Given the description of an element on the screen output the (x, y) to click on. 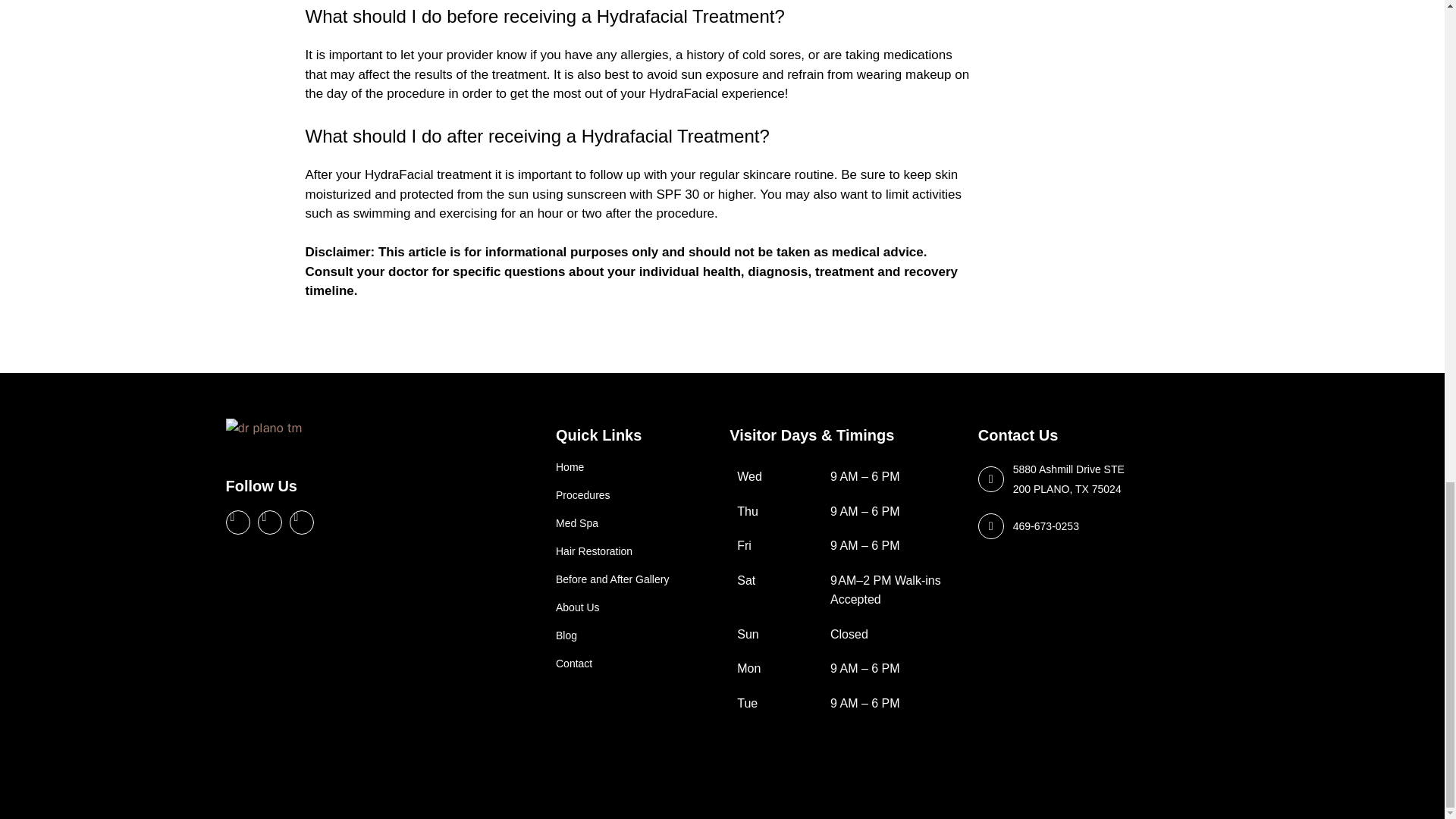
About Us (635, 607)
Blog (635, 635)
Before and After Gallery (635, 579)
Med Spa (635, 523)
Hair Restoration (635, 551)
Contact (635, 663)
Home (635, 467)
469-673-0253 (1045, 526)
Procedures (635, 495)
